Given the description of an element on the screen output the (x, y) to click on. 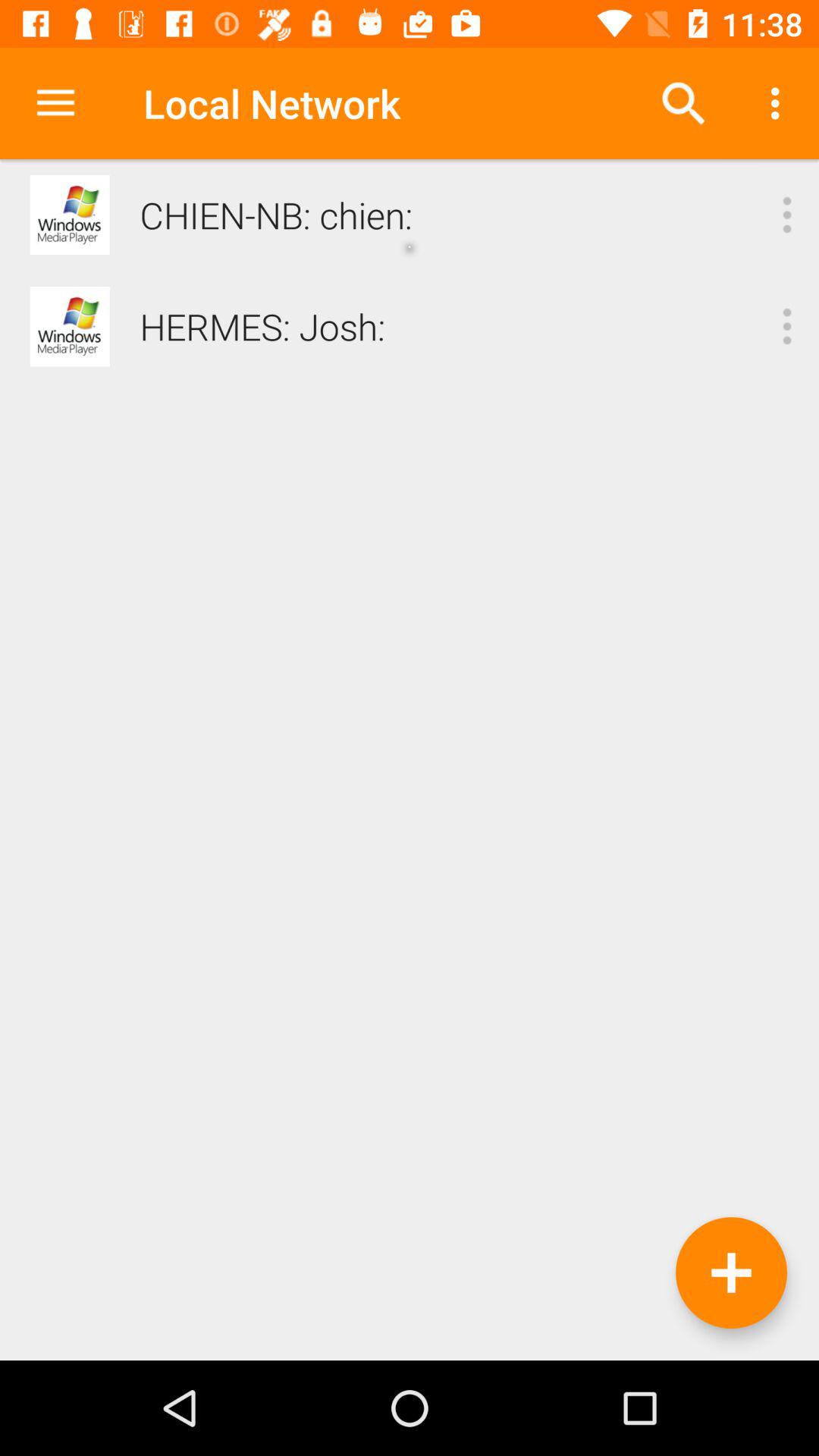
add an additional network (731, 1272)
